Given the description of an element on the screen output the (x, y) to click on. 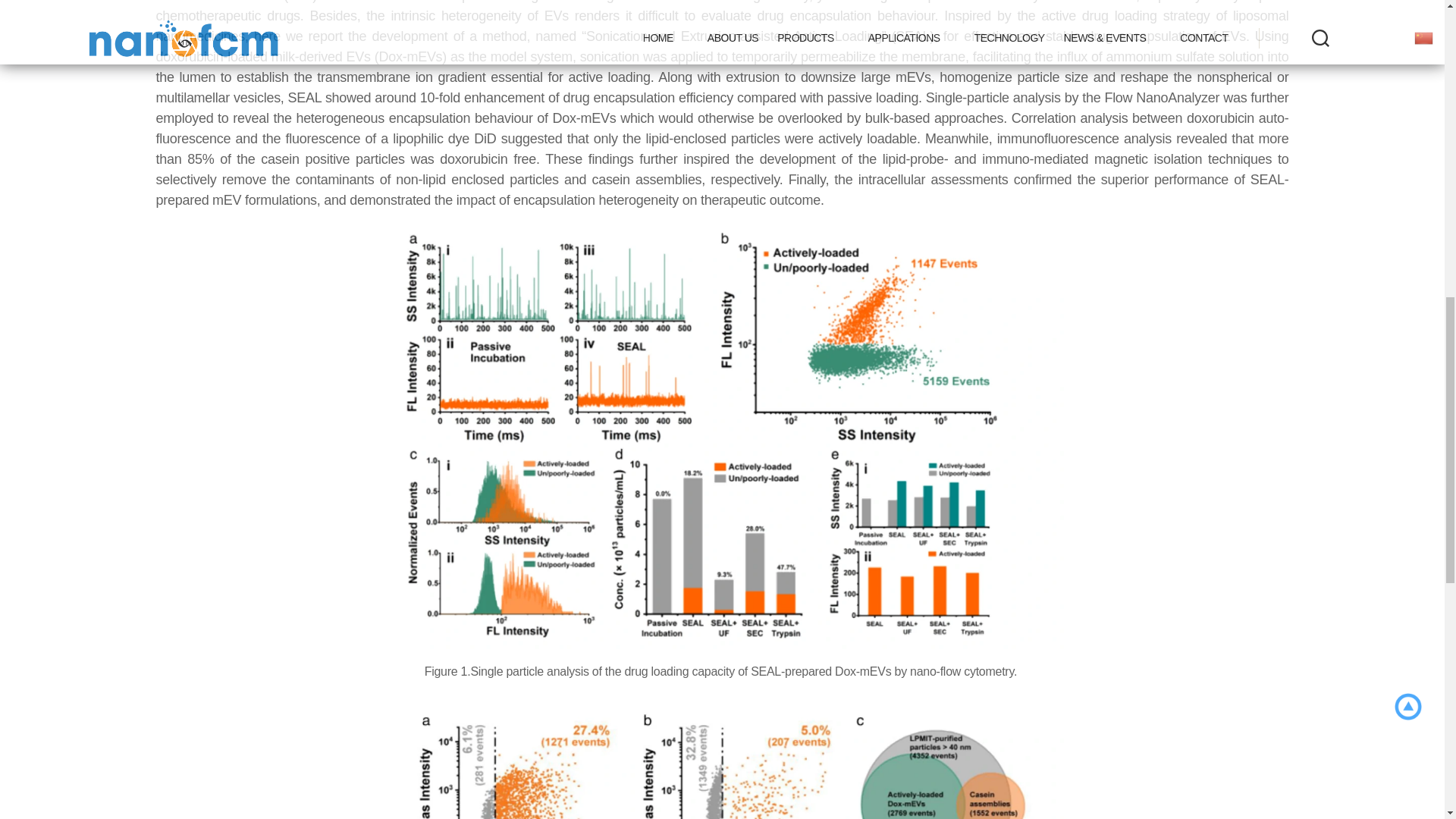
1678332734311344.webp (721, 755)
